Given the description of an element on the screen output the (x, y) to click on. 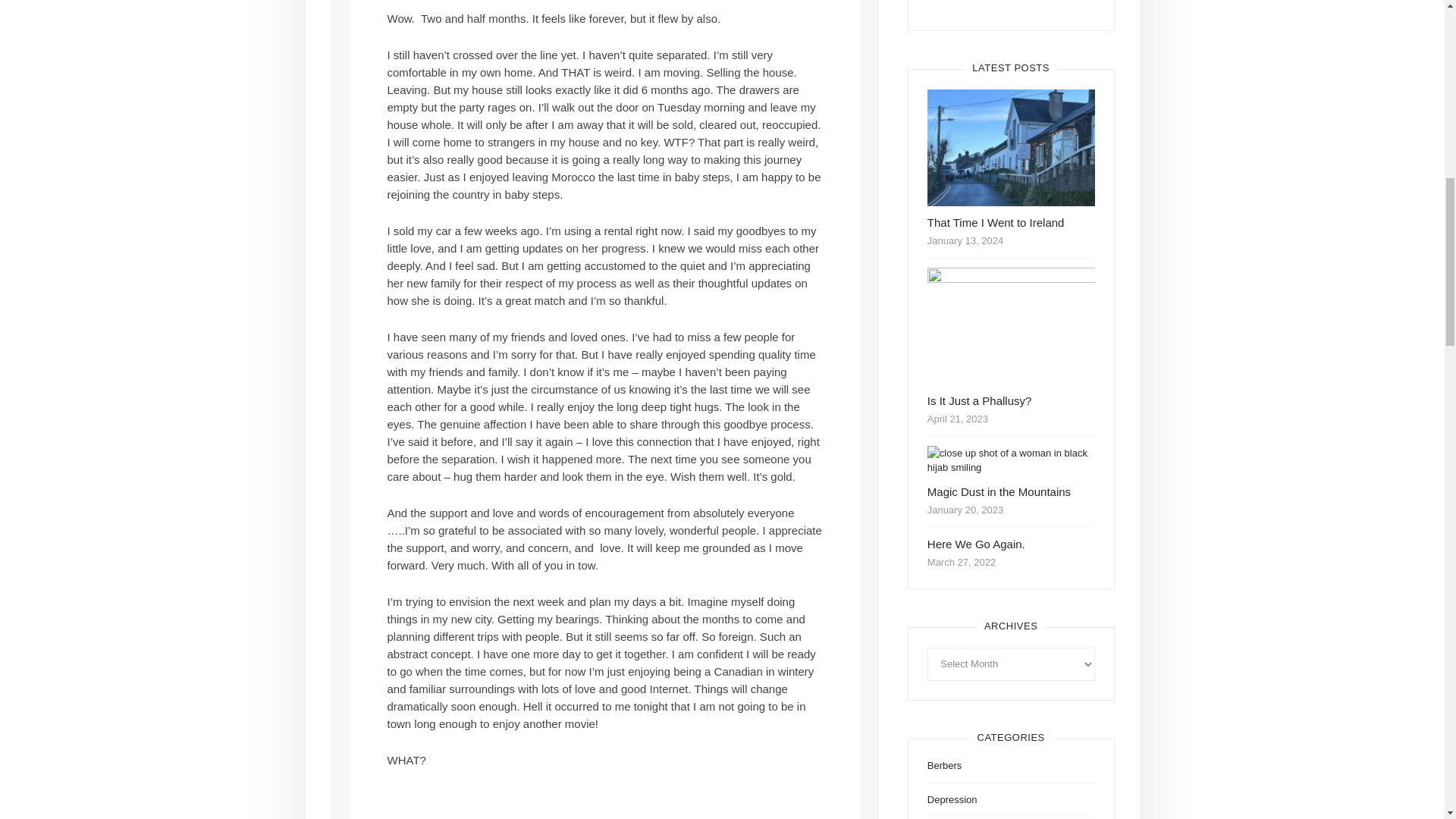
Depression (951, 799)
Magic Dust in the Mountains (998, 491)
Here We Go Again. (976, 543)
Berbers (944, 765)
Is It Just a Phallusy? (979, 400)
That Time I Went to Ireland (995, 222)
